Given the description of an element on the screen output the (x, y) to click on. 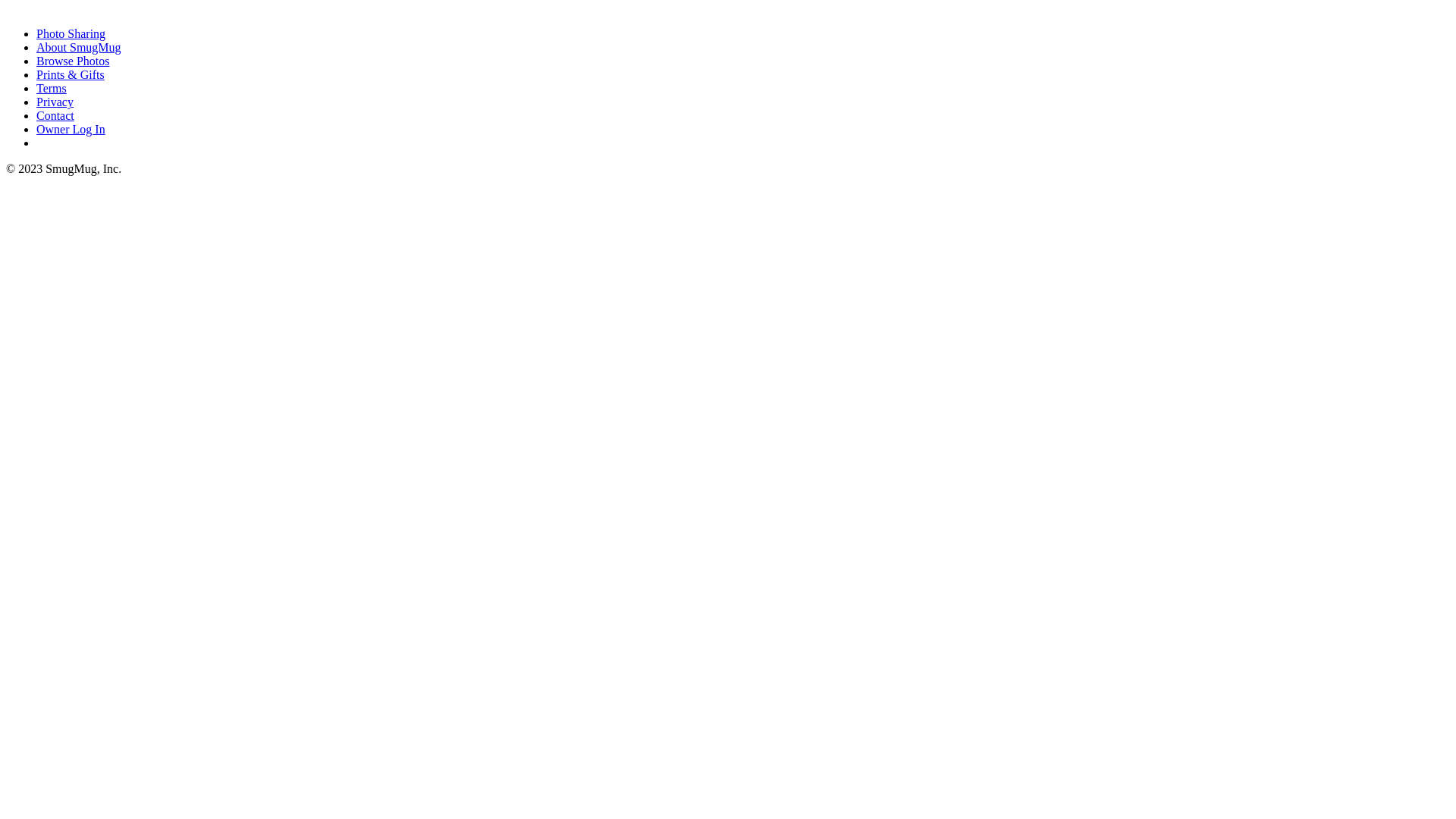
Browse Photos Element type: text (72, 60)
Prints & Gifts Element type: text (70, 74)
Terms Element type: text (51, 87)
About SmugMug Element type: text (78, 46)
Photo Sharing Element type: text (70, 33)
Contact Element type: text (55, 115)
Privacy Element type: text (54, 101)
Owner Log In Element type: text (70, 128)
